Given the description of an element on the screen output the (x, y) to click on. 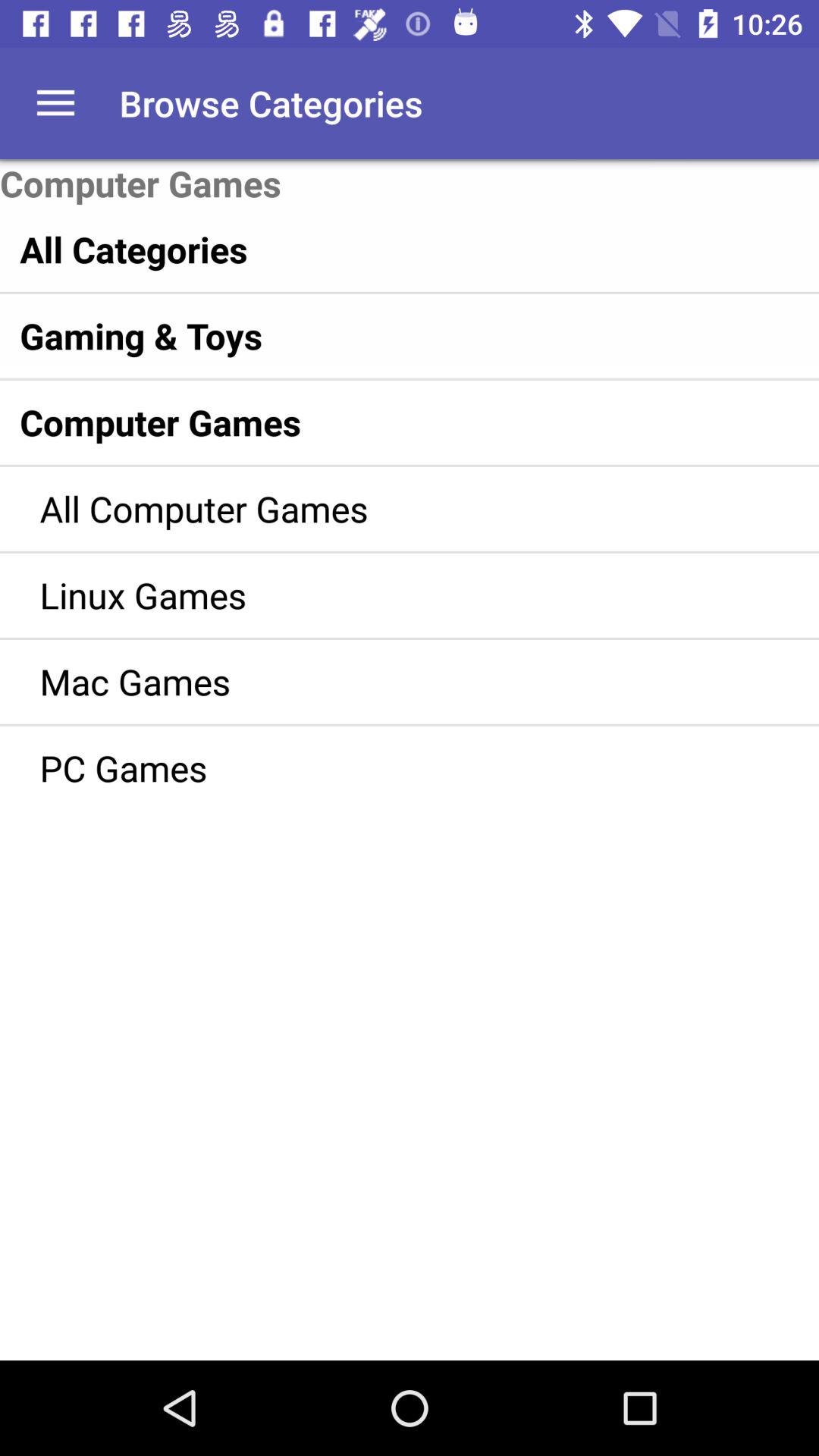
tap icon above computer games item (55, 103)
